Given the description of an element on the screen output the (x, y) to click on. 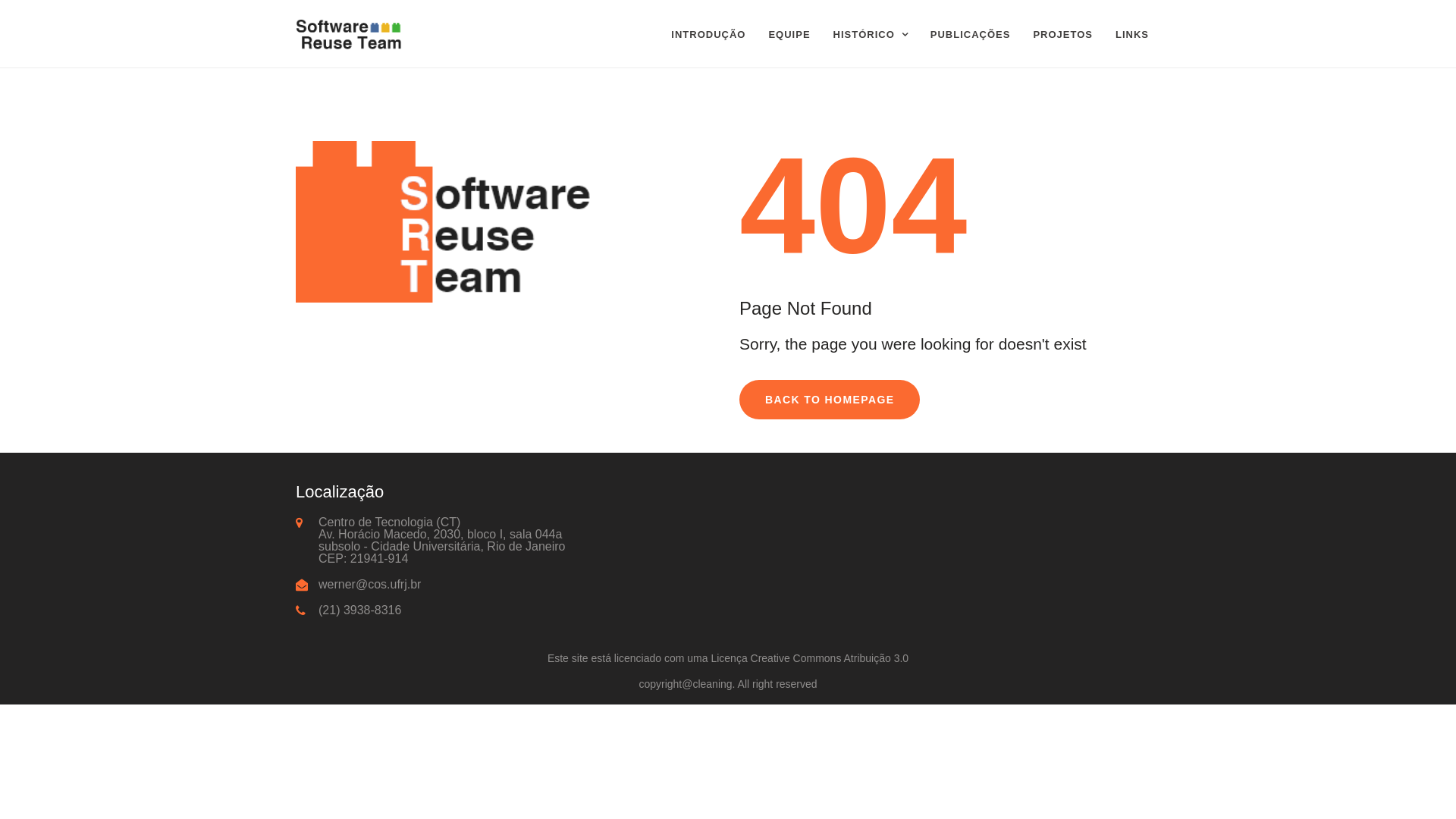
LINKS Element type: text (1132, 34)
PROJETOS Element type: text (1062, 34)
copyright@cleaning. All right reserved Element type: text (727, 683)
EQUIPE Element type: text (788, 34)
BACK TO HOMEPAGE Element type: text (829, 399)
